Given the description of an element on the screen output the (x, y) to click on. 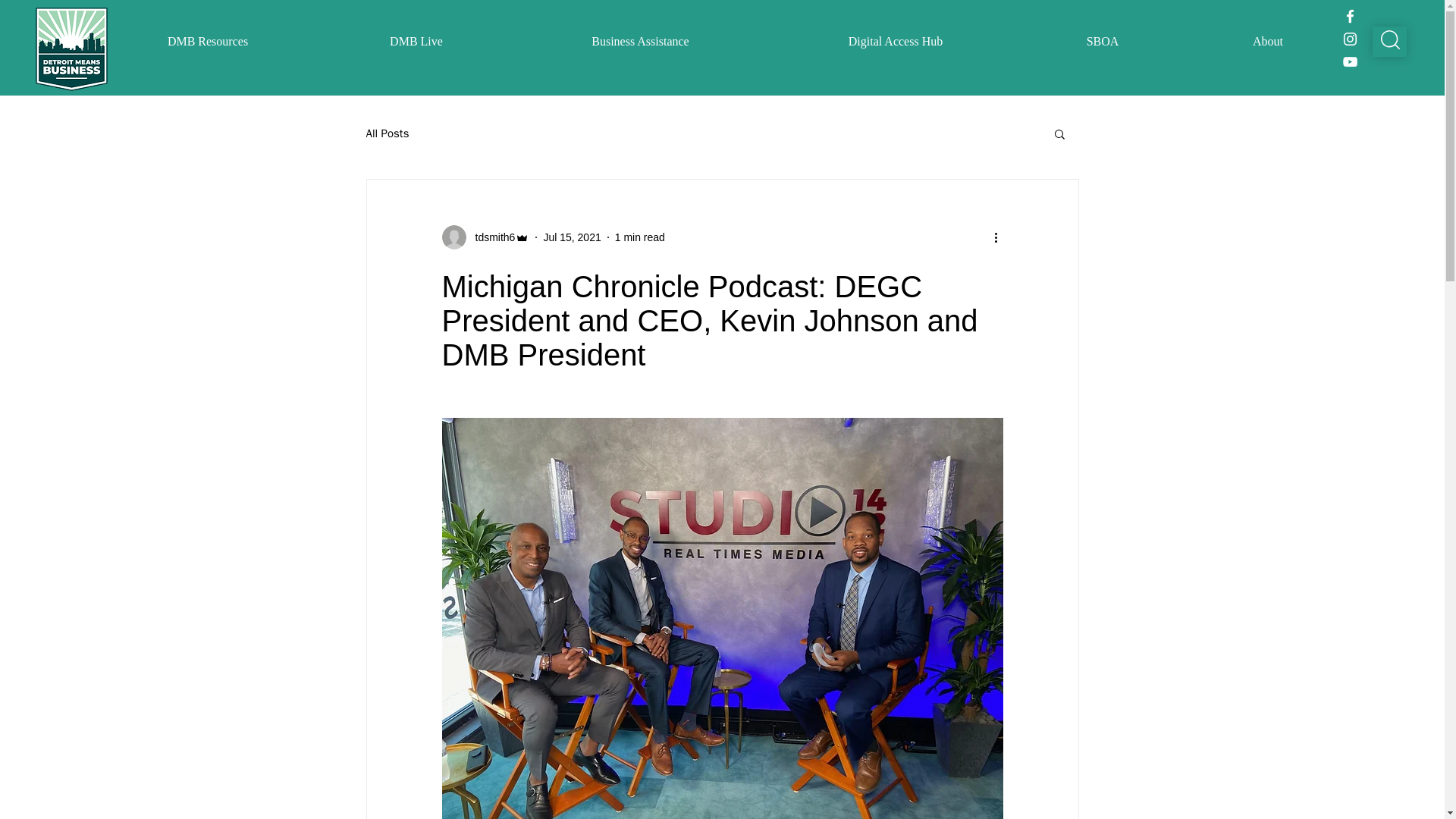
tdsmith6 (485, 237)
DMB Resources (207, 41)
DMB Live (416, 41)
Business Assistance (640, 41)
Jul 15, 2021 (571, 236)
Digital Access Hub (895, 41)
SBOA (1102, 41)
All Posts (387, 133)
1 min read (639, 236)
tdsmith6 (490, 236)
